Given the description of an element on the screen output the (x, y) to click on. 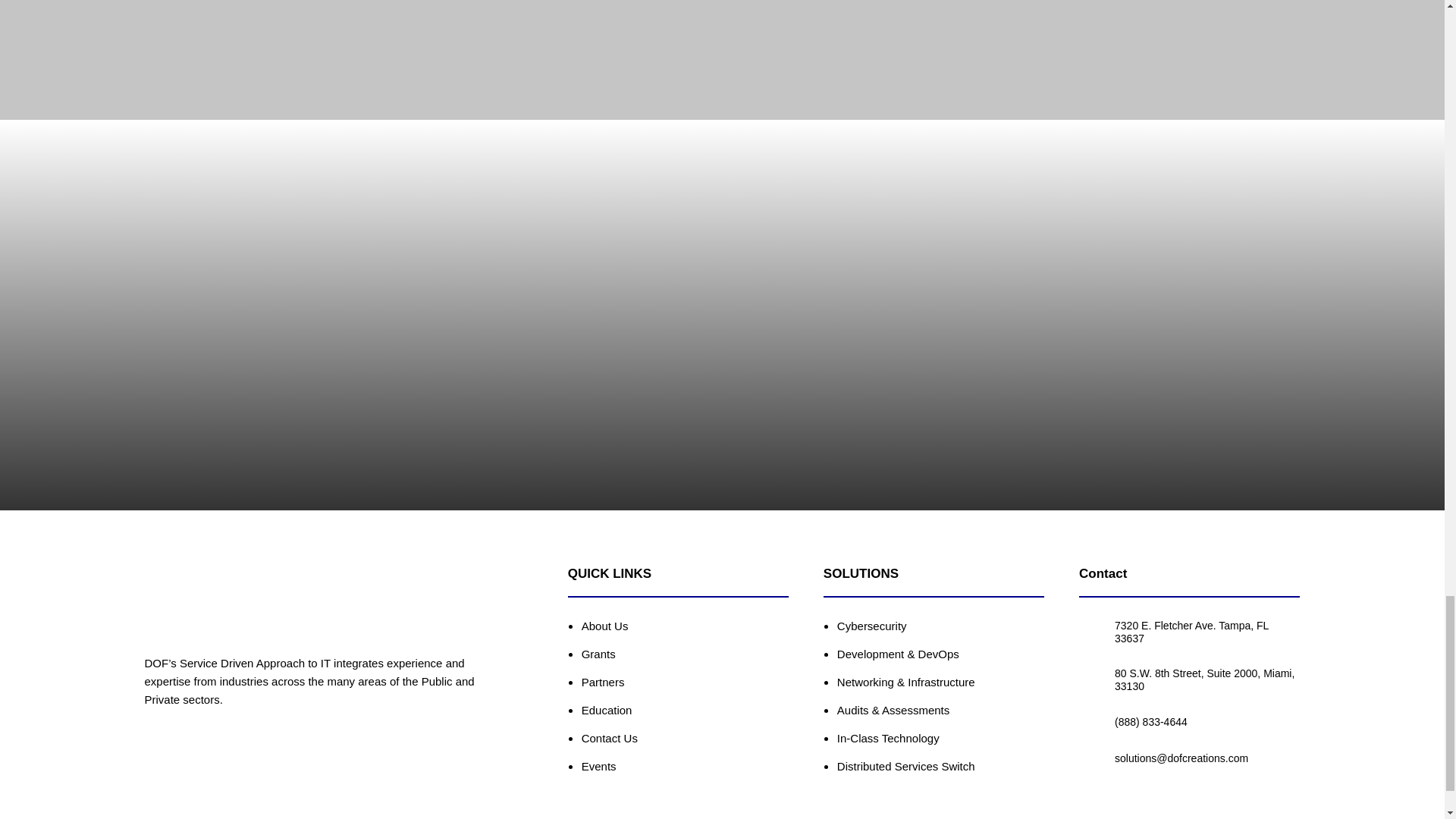
Linkedin (170, 752)
dof-creations (204, 598)
